Given the description of an element on the screen output the (x, y) to click on. 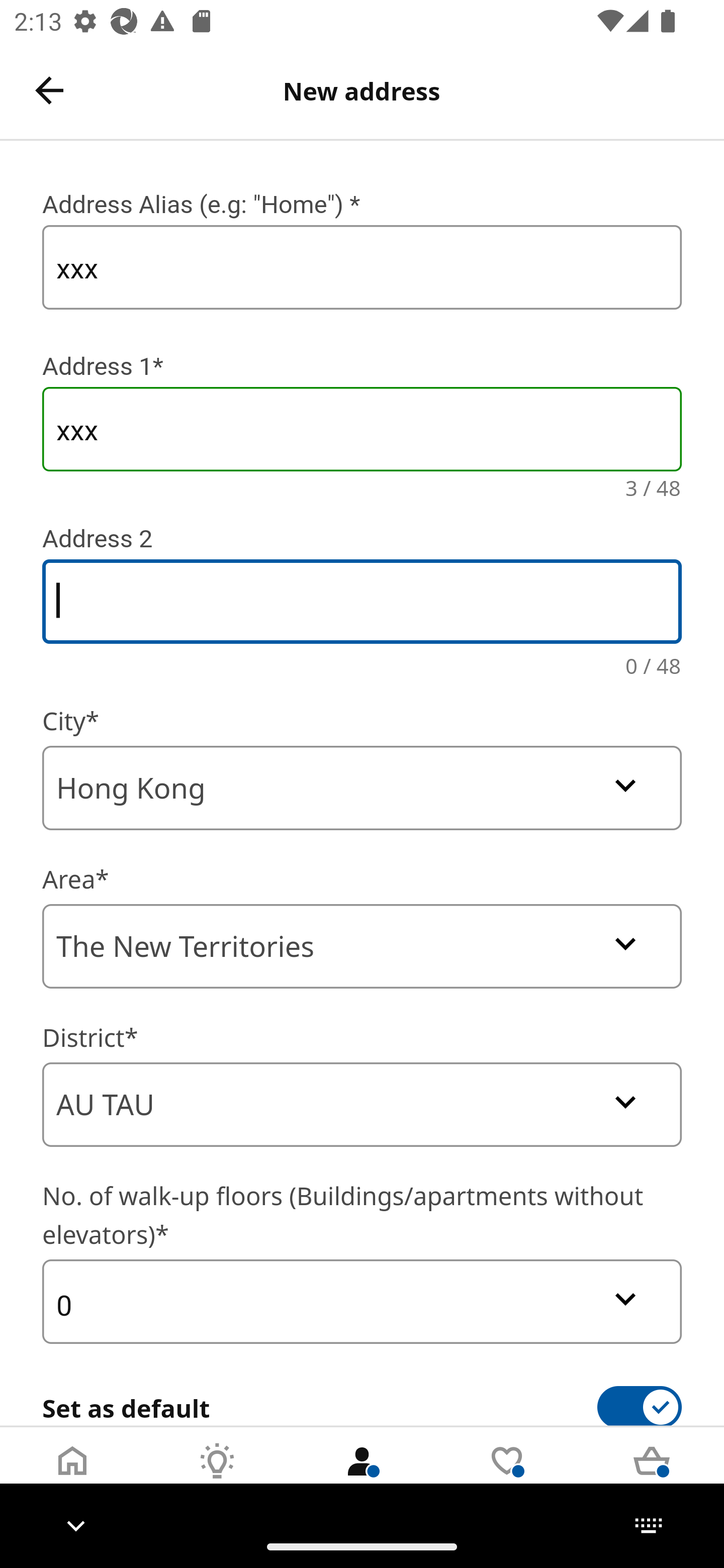
xxx (361, 266)
xxx (361, 429)
Hong Kong (361, 787)
The New Territories (361, 945)
AU TAU (361, 1104)
0 (361, 1301)
Home
Tab 1 of 5 (72, 1476)
Inspirations
Tab 2 of 5 (216, 1476)
User
Tab 3 of 5 (361, 1476)
Wishlist
Tab 4 of 5 (506, 1476)
Cart
Tab 5 of 5 (651, 1476)
